Given the description of an element on the screen output the (x, y) to click on. 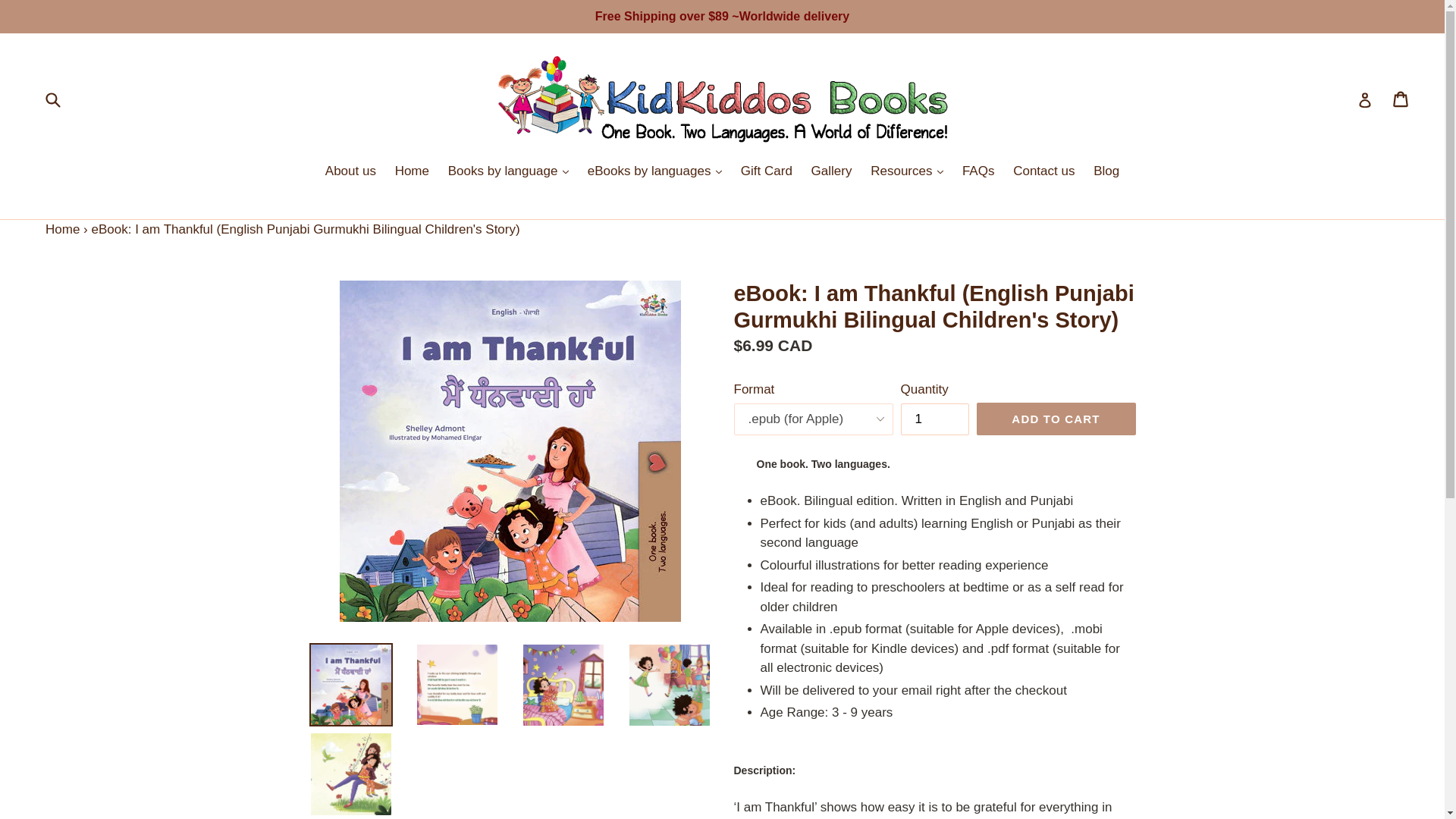
1 (935, 418)
Home (62, 228)
